Given the description of an element on the screen output the (x, y) to click on. 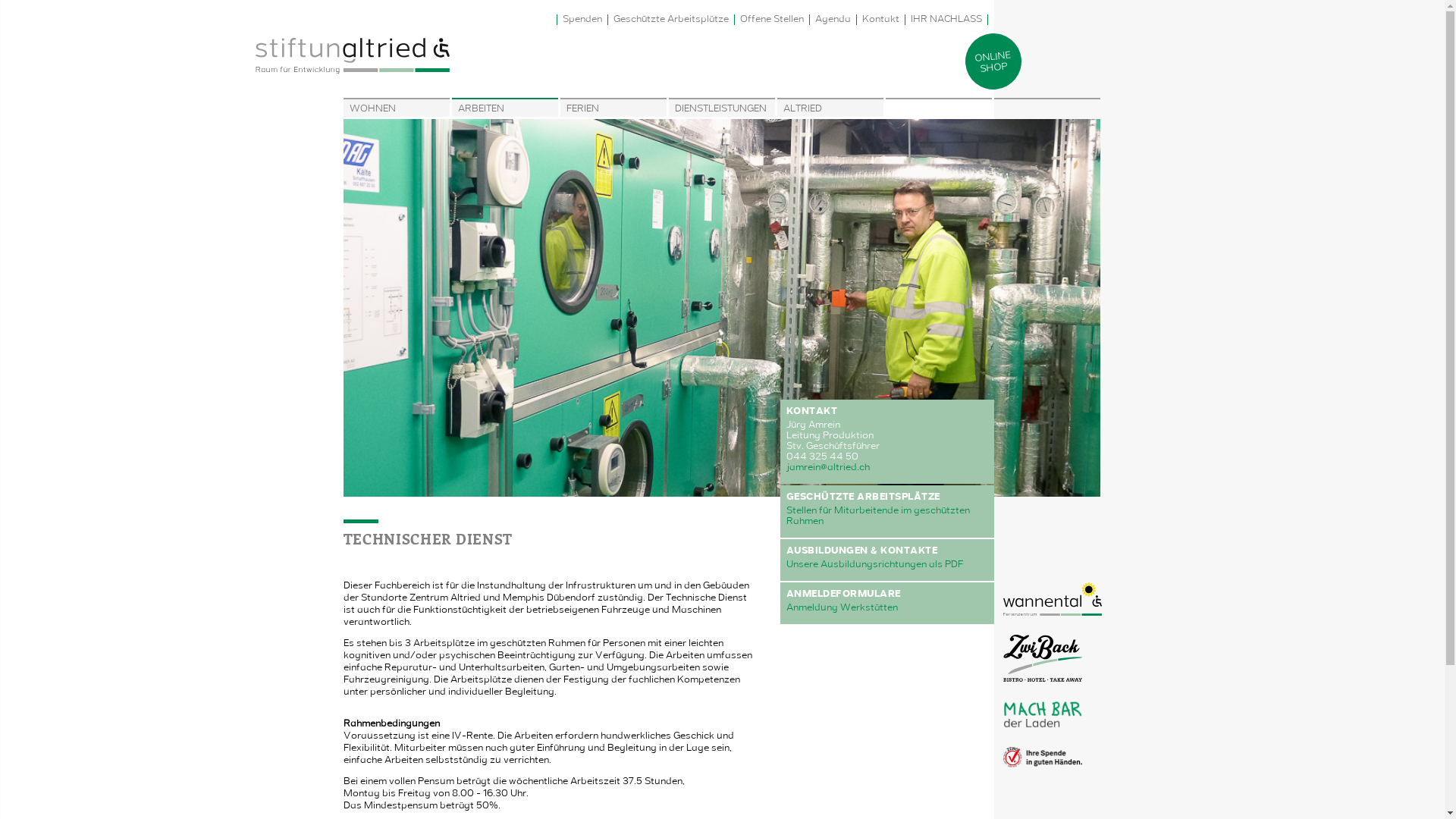
FERIEN Element type: text (612, 109)
Offene Stellen Element type: text (771, 19)
Kontakt Element type: text (880, 19)
Spenden Element type: text (581, 19)
ARBEITEN Element type: text (504, 109)
Agenda Element type: text (832, 19)
DIENSTLEISTUNGEN Element type: text (721, 109)
ALTRIED Element type: text (829, 109)
jamrein@altried.ch Element type: text (827, 467)
Unsere Ausbildungsrichtungen als PDF Element type: text (873, 564)
WOHNEN Element type: text (395, 109)
IHR NACHLASS Element type: text (946, 19)
